Given the description of an element on the screen output the (x, y) to click on. 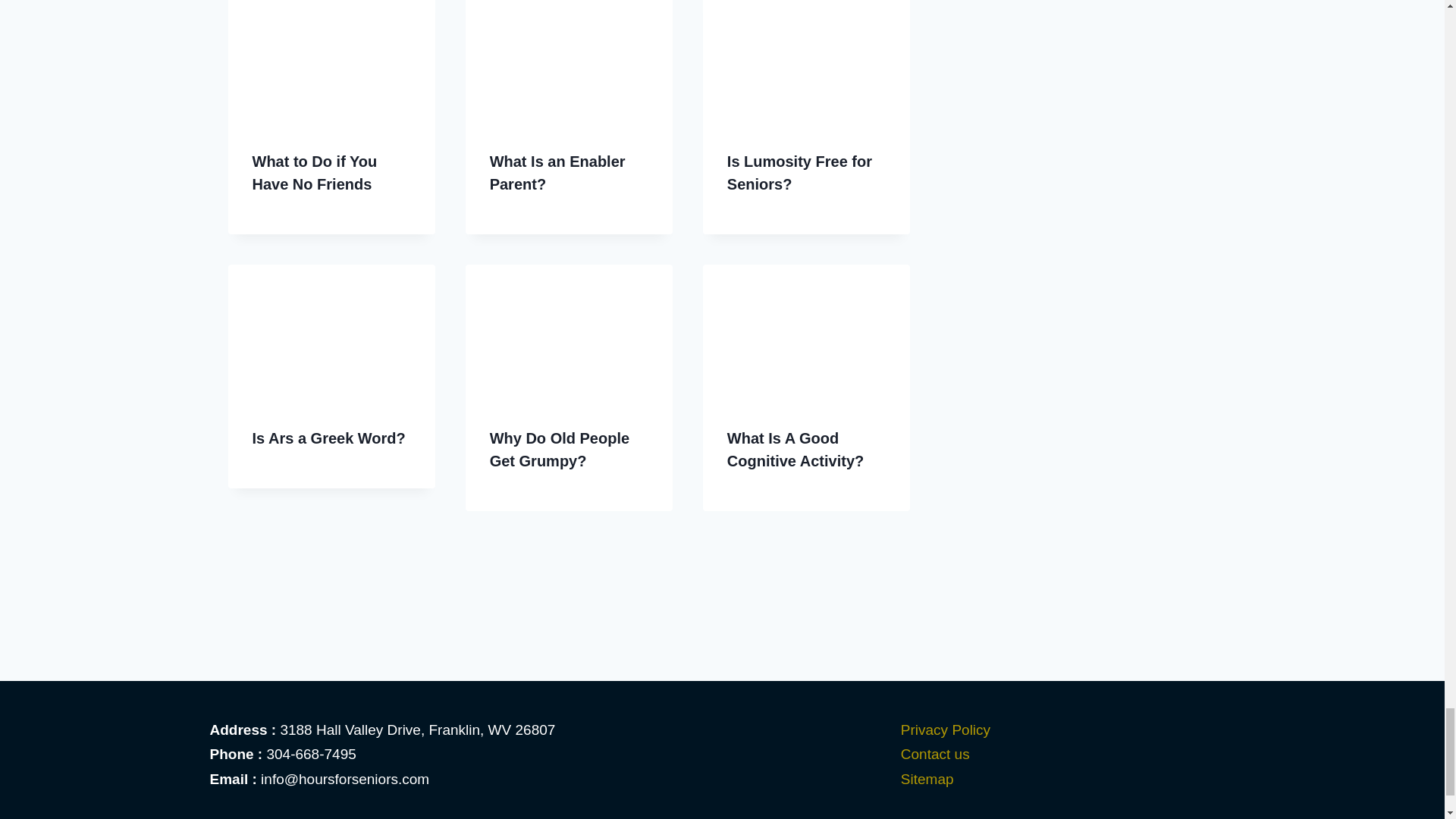
Why Do Old People Get Grumpy? (558, 449)
What Is A Good Cognitive Activity? (794, 449)
What Is an Enabler Parent? (557, 172)
Is Lumosity Free for Seniors? (799, 172)
Is Ars a Greek Word? (327, 437)
What to Do if You Have No Friends (314, 172)
